Given the description of an element on the screen output the (x, y) to click on. 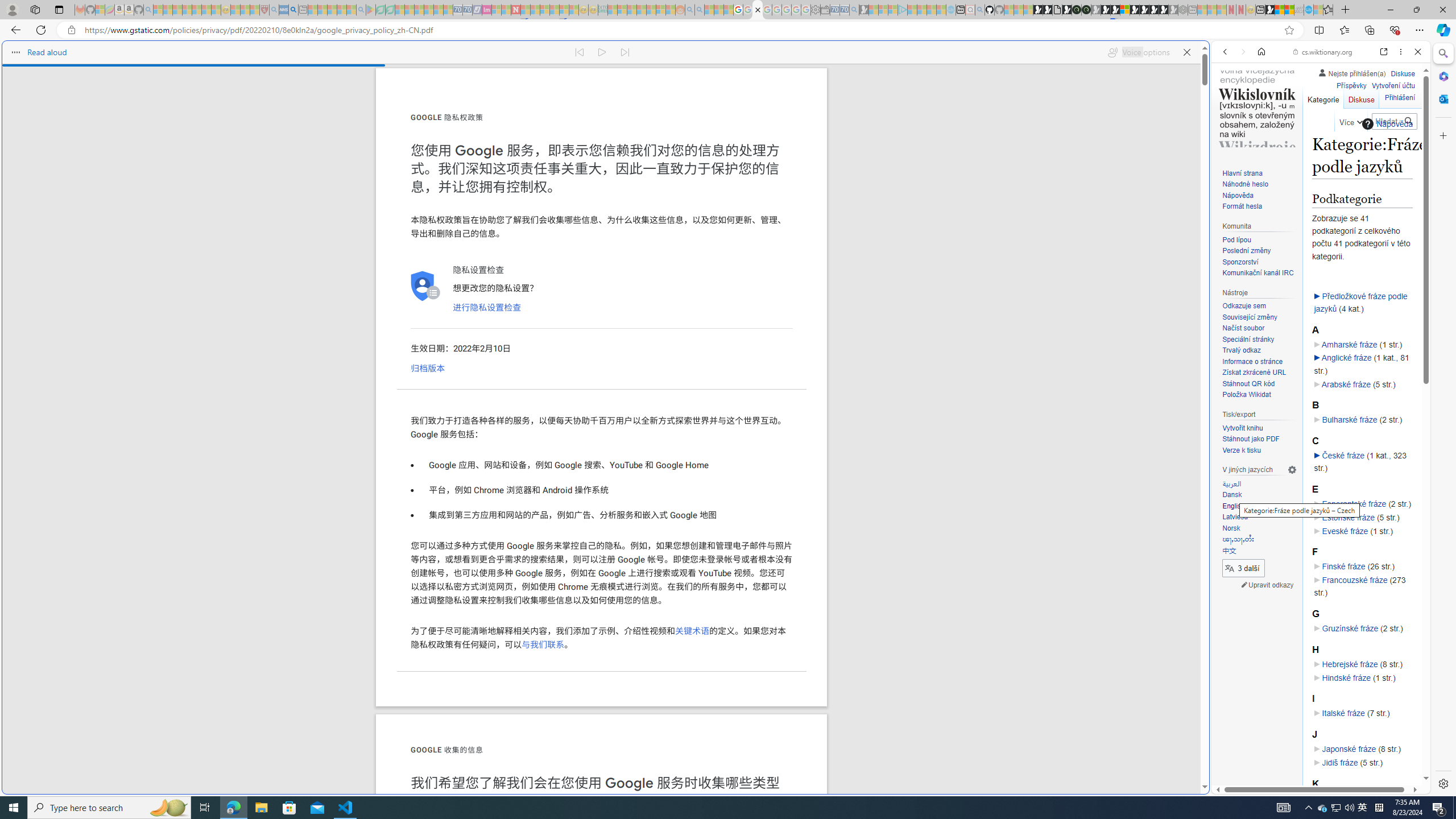
Bluey: Let's Play! - Apps on Google Play - Sleeping (370, 9)
Verze k tisku (1259, 450)
Hledat (1408, 121)
utah sues federal government - Search (922, 389)
